Given the description of an element on the screen output the (x, y) to click on. 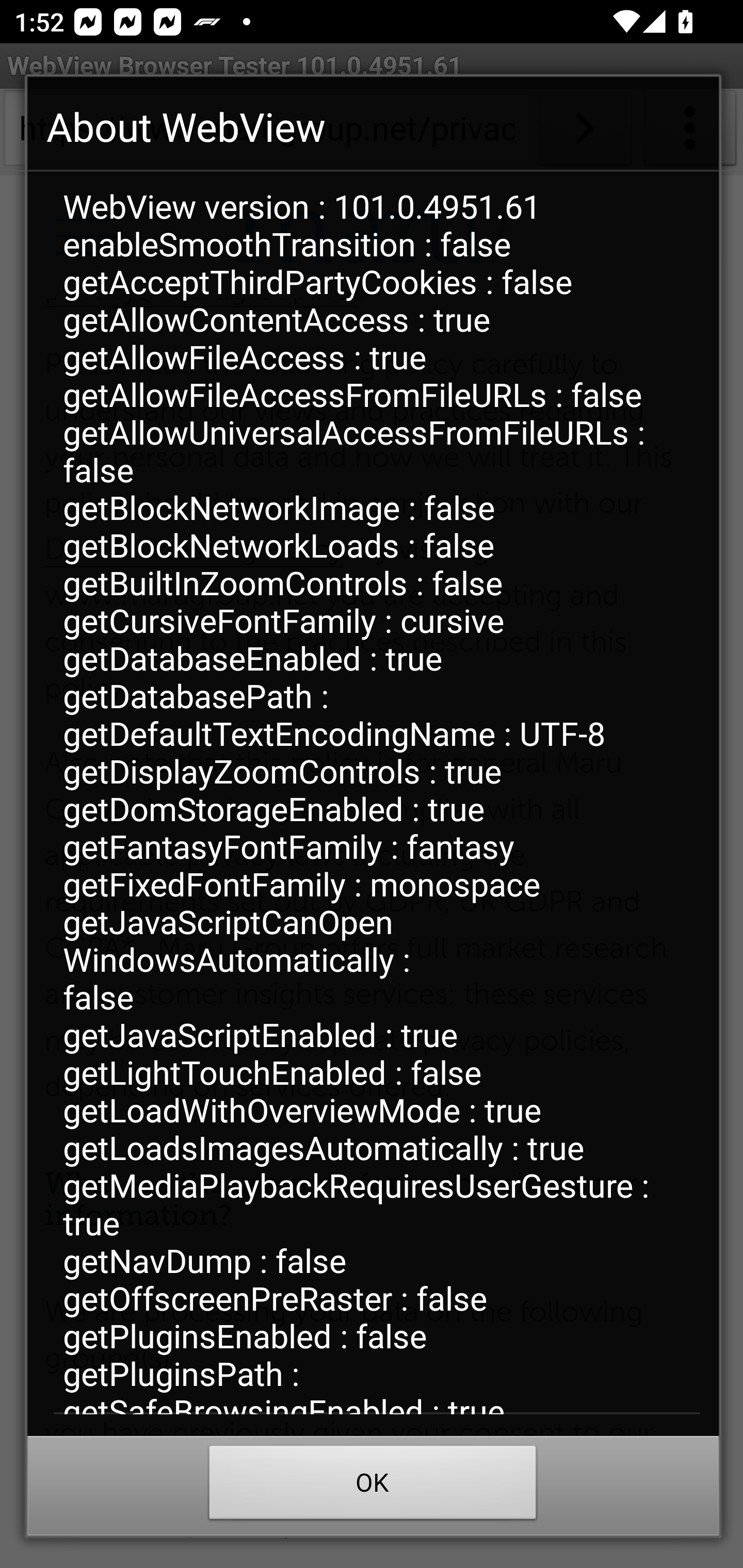
OK (372, 1486)
